Given the description of an element on the screen output the (x, y) to click on. 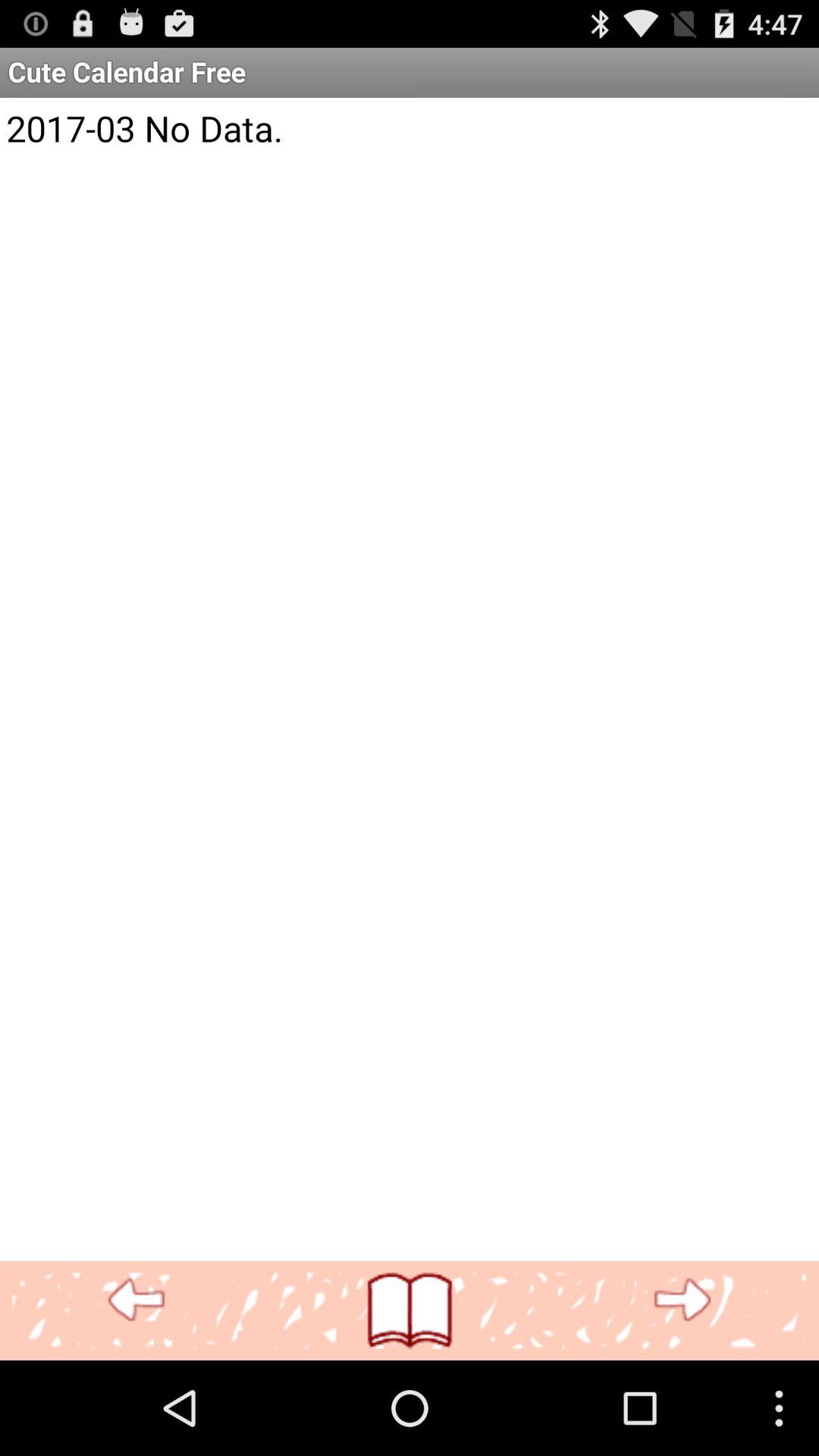
go to previous page (136, 1300)
